Given the description of an element on the screen output the (x, y) to click on. 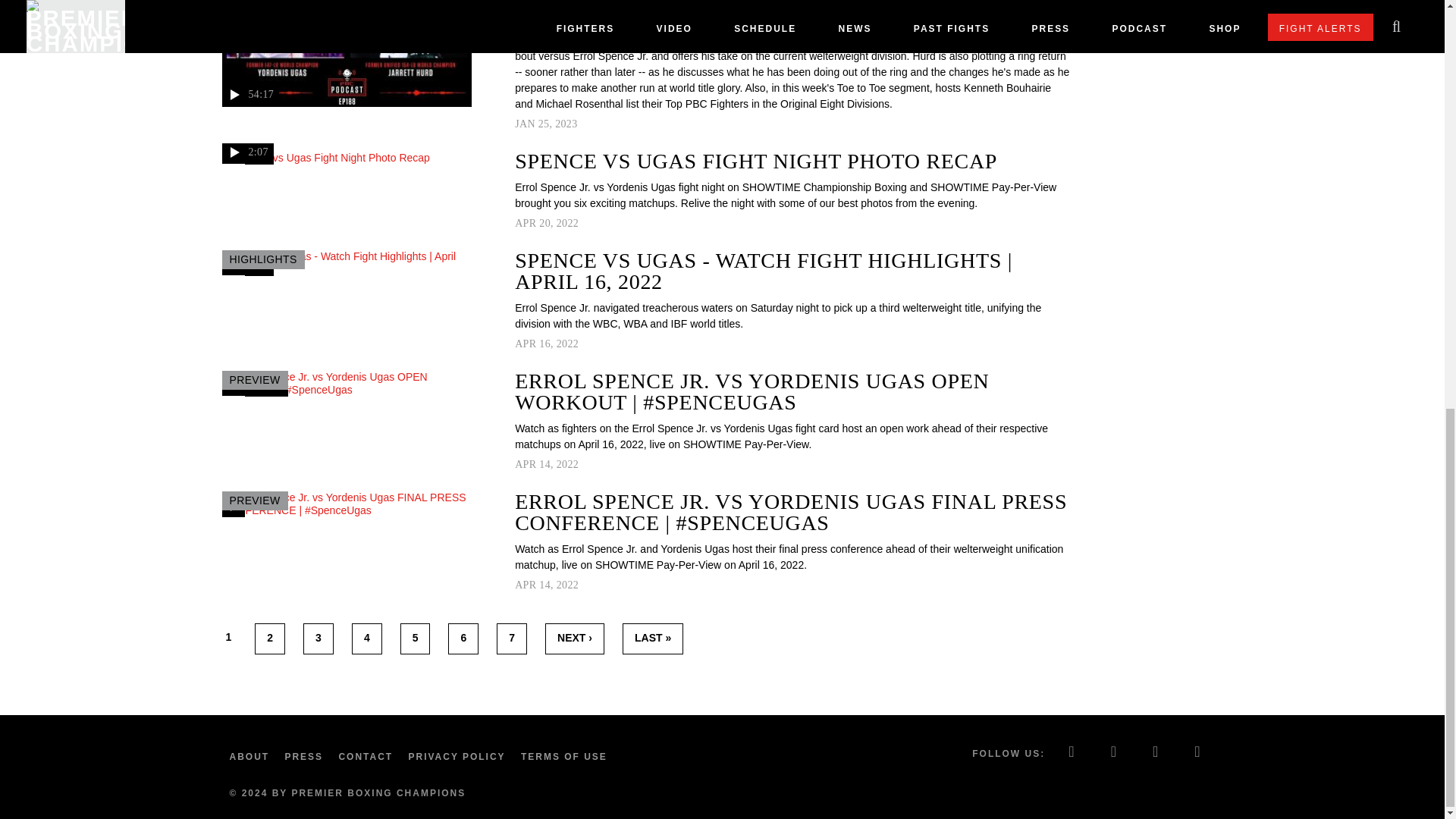
April (525, 223)
January (525, 123)
April (525, 464)
April (525, 343)
